Given the description of an element on the screen output the (x, y) to click on. 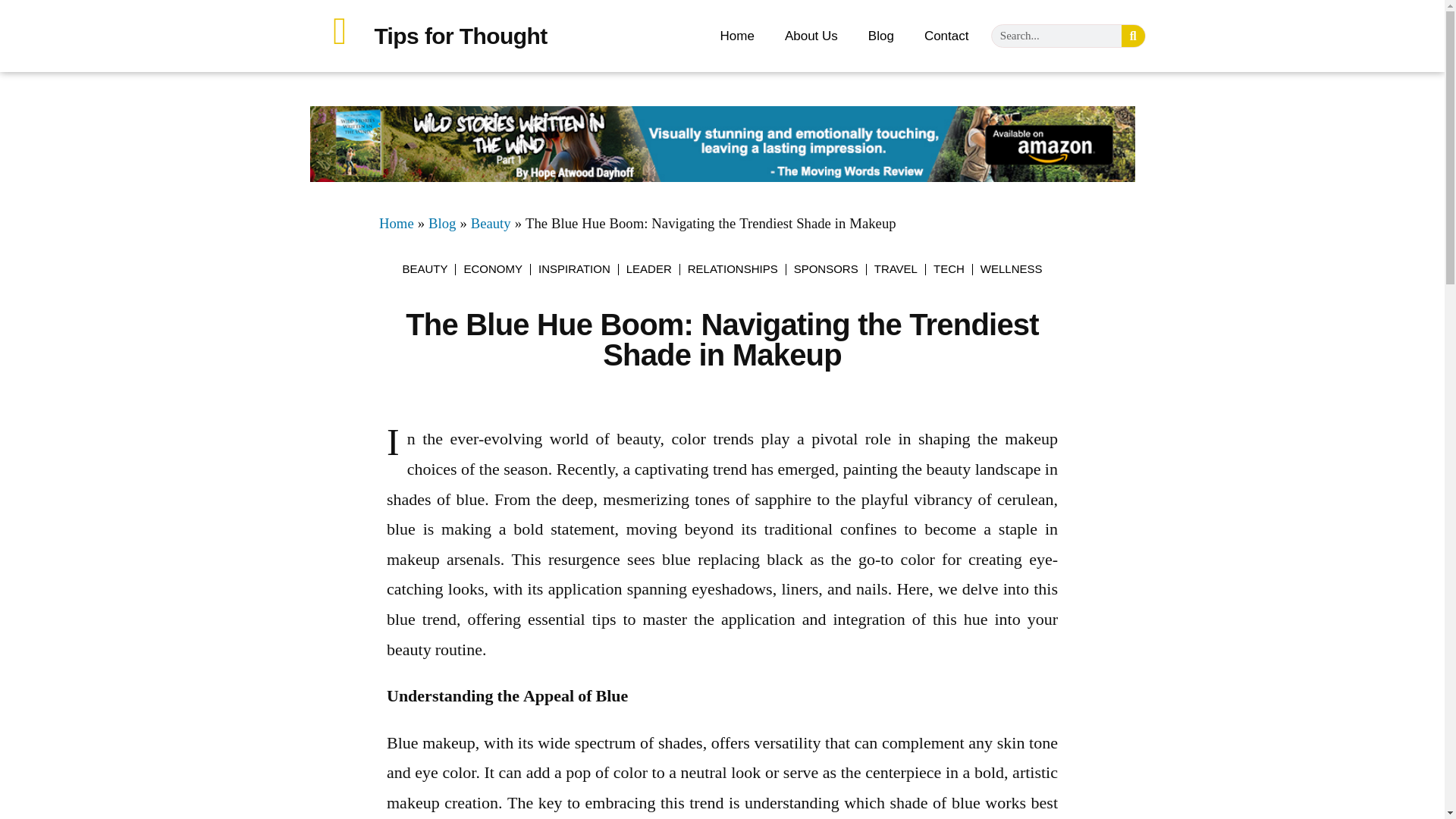
Tips for Thought (460, 34)
Contact (946, 35)
Blog (880, 35)
Blog (441, 223)
Home (737, 35)
About Us (811, 35)
Home (395, 223)
